Given the description of an element on the screen output the (x, y) to click on. 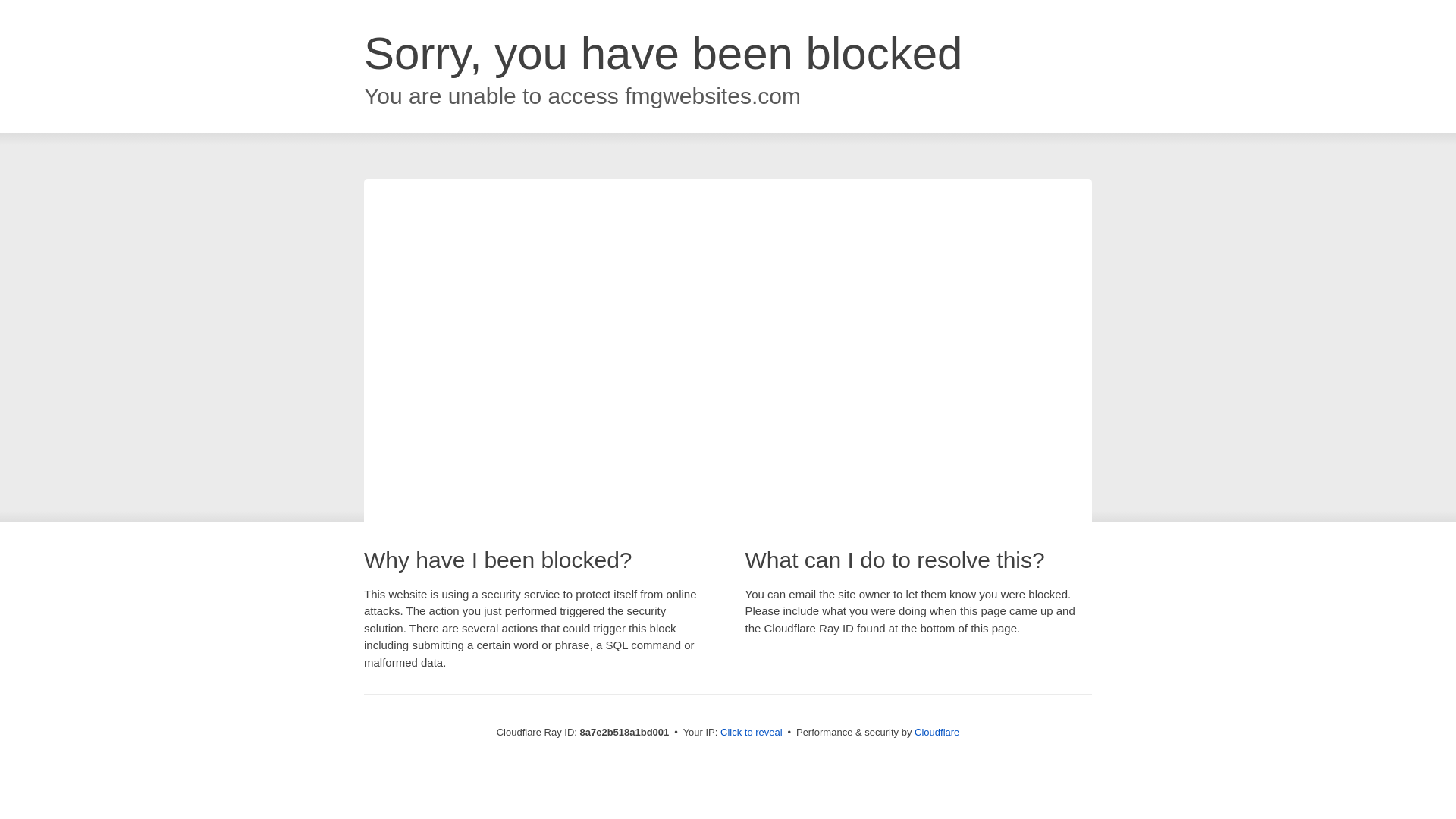
Click to reveal (751, 732)
Cloudflare (936, 731)
